Given the description of an element on the screen output the (x, y) to click on. 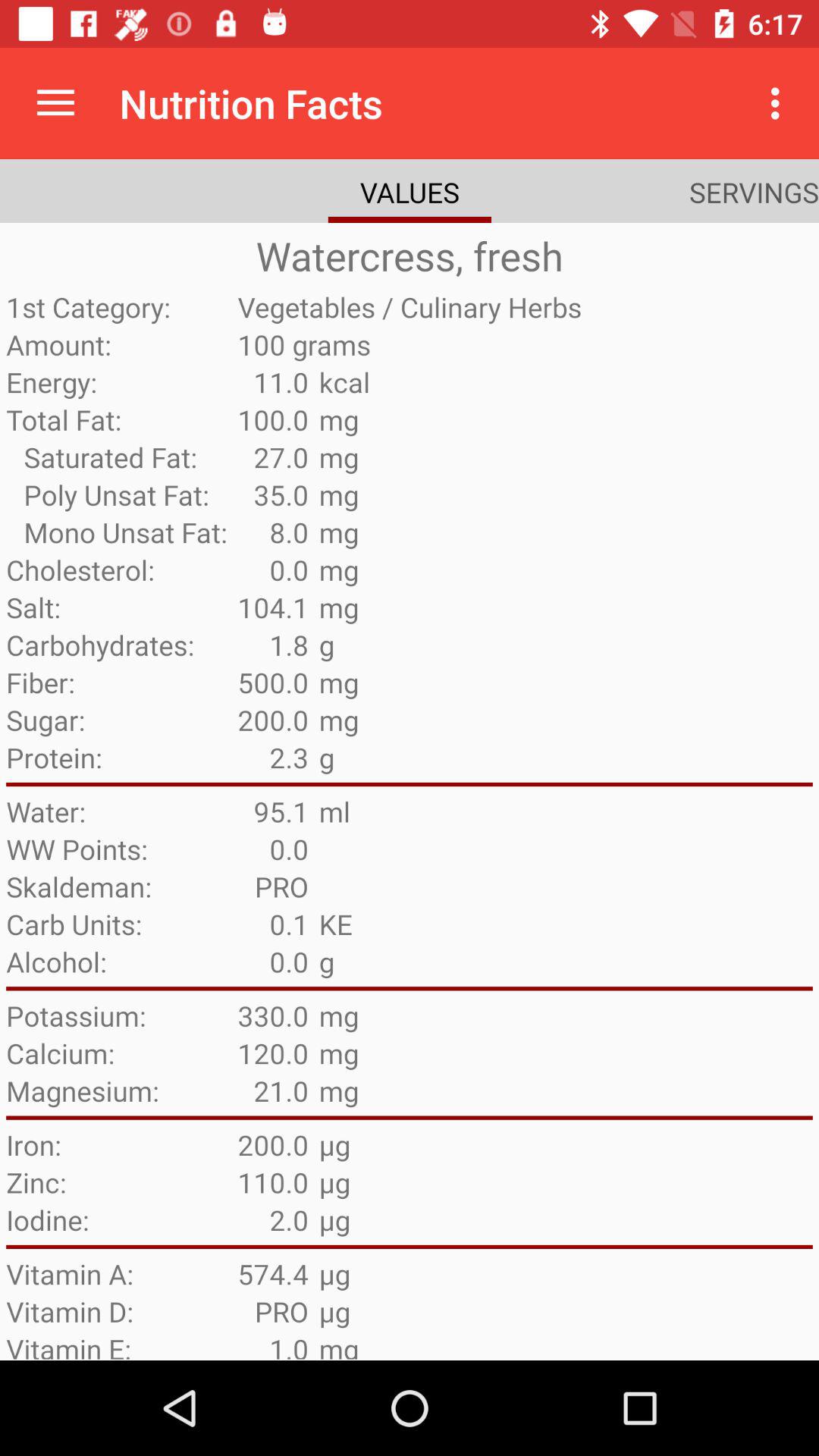
choose the app to the right of the values icon (754, 192)
